Given the description of an element on the screen output the (x, y) to click on. 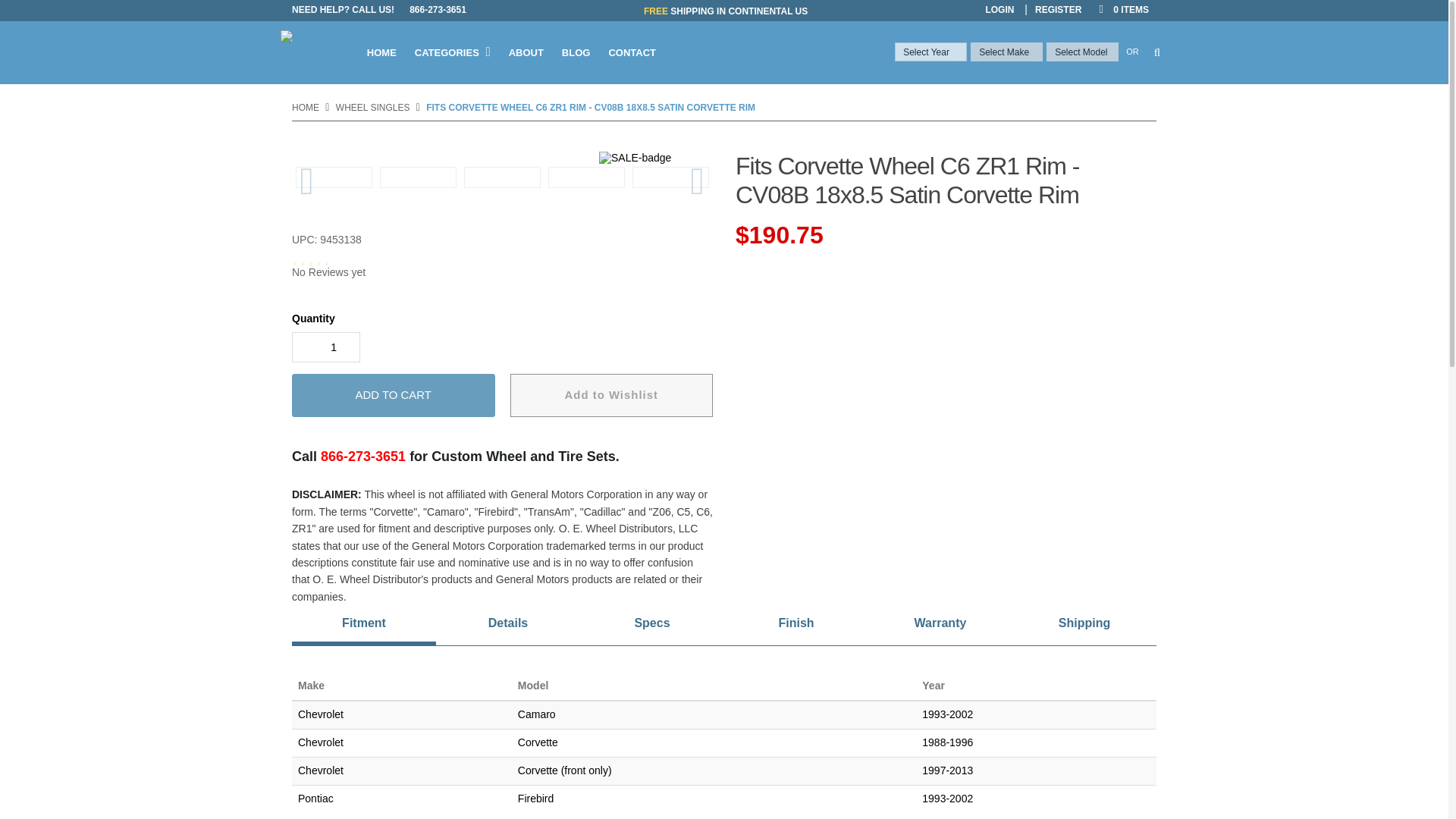
OE Wheels (317, 52)
REGISTER (1058, 9)
LOGIN (999, 9)
0 ITEMS (1122, 9)
NEED HELP? CALL US! (346, 9)
1 (325, 347)
CATEGORIES (452, 52)
Cart (1122, 9)
866-273-3651 (437, 9)
